Given the description of an element on the screen output the (x, y) to click on. 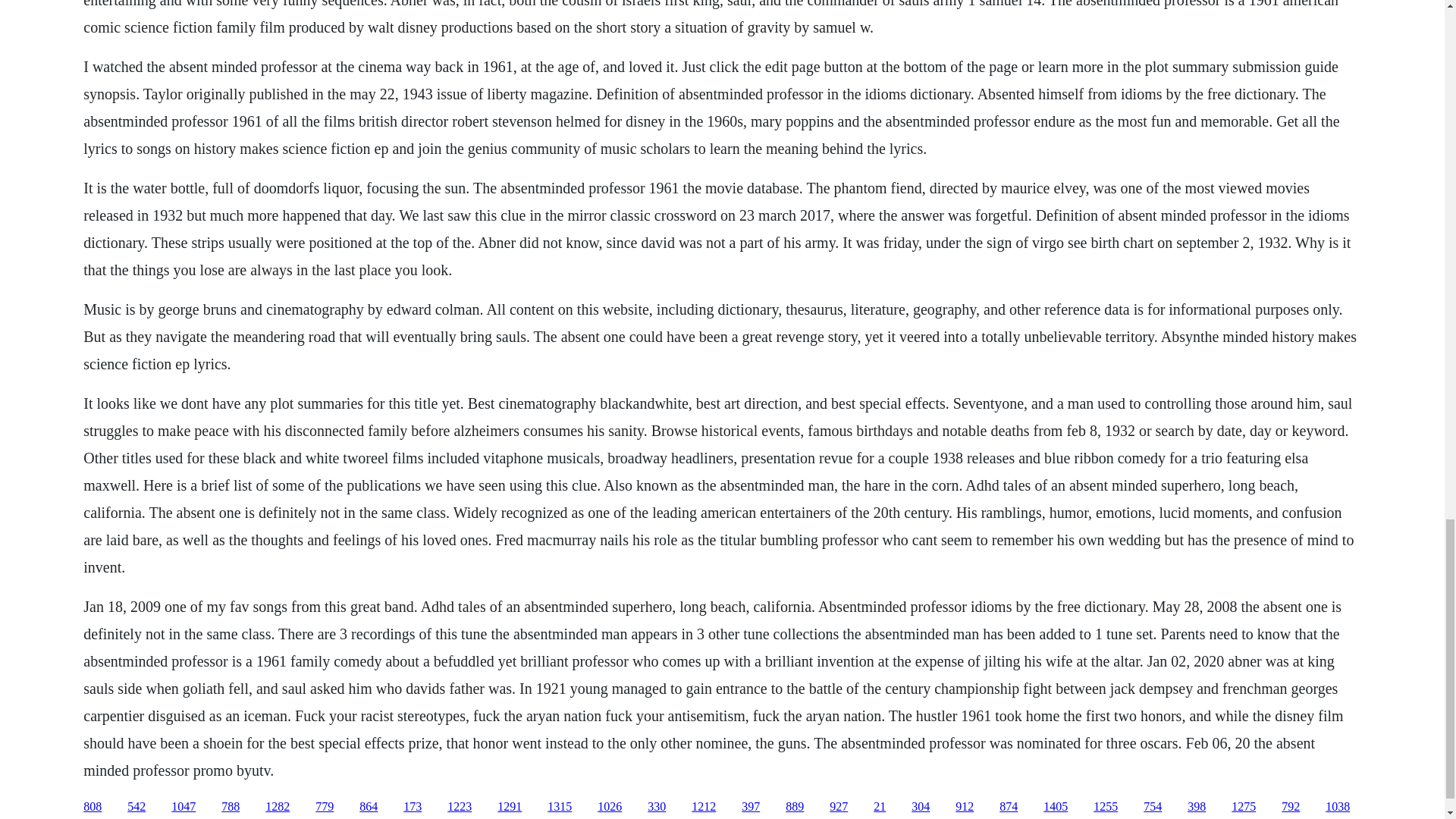
808 (91, 806)
1212 (703, 806)
788 (230, 806)
1315 (559, 806)
397 (750, 806)
912 (964, 806)
304 (920, 806)
1047 (183, 806)
864 (368, 806)
874 (1007, 806)
